Given the description of an element on the screen output the (x, y) to click on. 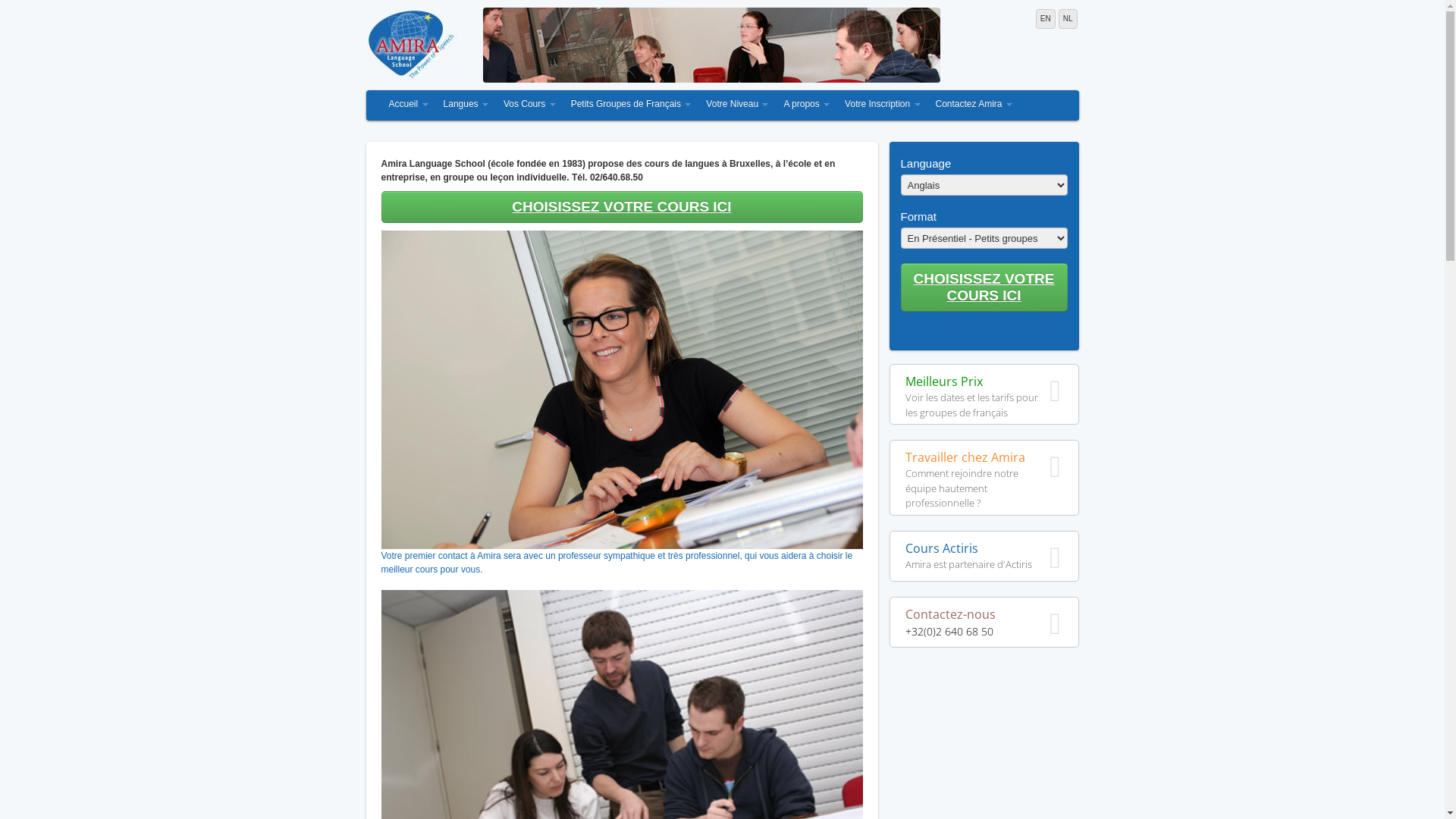
Cours Actiris
Amira est partenaire d'Actiris Element type: text (983, 555)
A propos Element type: text (806, 104)
Contactez Amira Element type: text (973, 104)
Langues Element type: text (465, 104)
Contactez-nous
+32(0)2 640 68 50 Element type: text (983, 621)
NL Element type: text (1068, 18)
CHOISISSEZ VOTRE COURS ICI Element type: text (621, 206)
Vos Cours Element type: text (529, 104)
CHOISISSEZ VOTRE COURS ICI Element type: text (983, 287)
Votre Inscription Element type: text (882, 104)
Accueil Element type: text (407, 104)
Votre Niveau Element type: text (736, 104)
EN Element type: text (1045, 18)
